Given the description of an element on the screen output the (x, y) to click on. 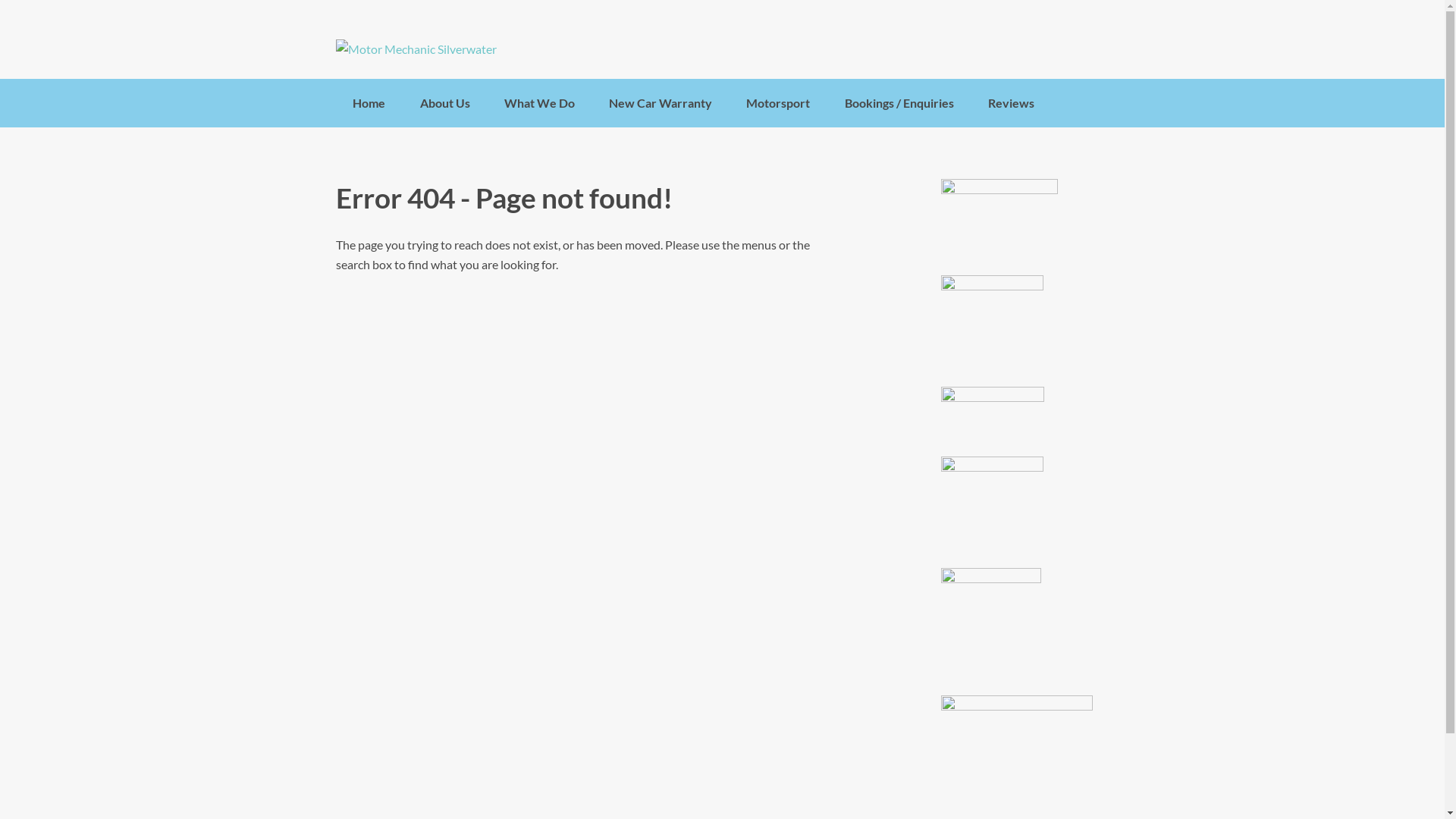
Motorsport Element type: text (778, 102)
Home Element type: text (368, 102)
Reviews Element type: text (1010, 102)
New Car Warranty Element type: text (660, 102)
What We Do Element type: text (538, 102)
Bookings / Enquiries Element type: text (898, 102)
About Us Element type: text (444, 102)
